Given the description of an element on the screen output the (x, y) to click on. 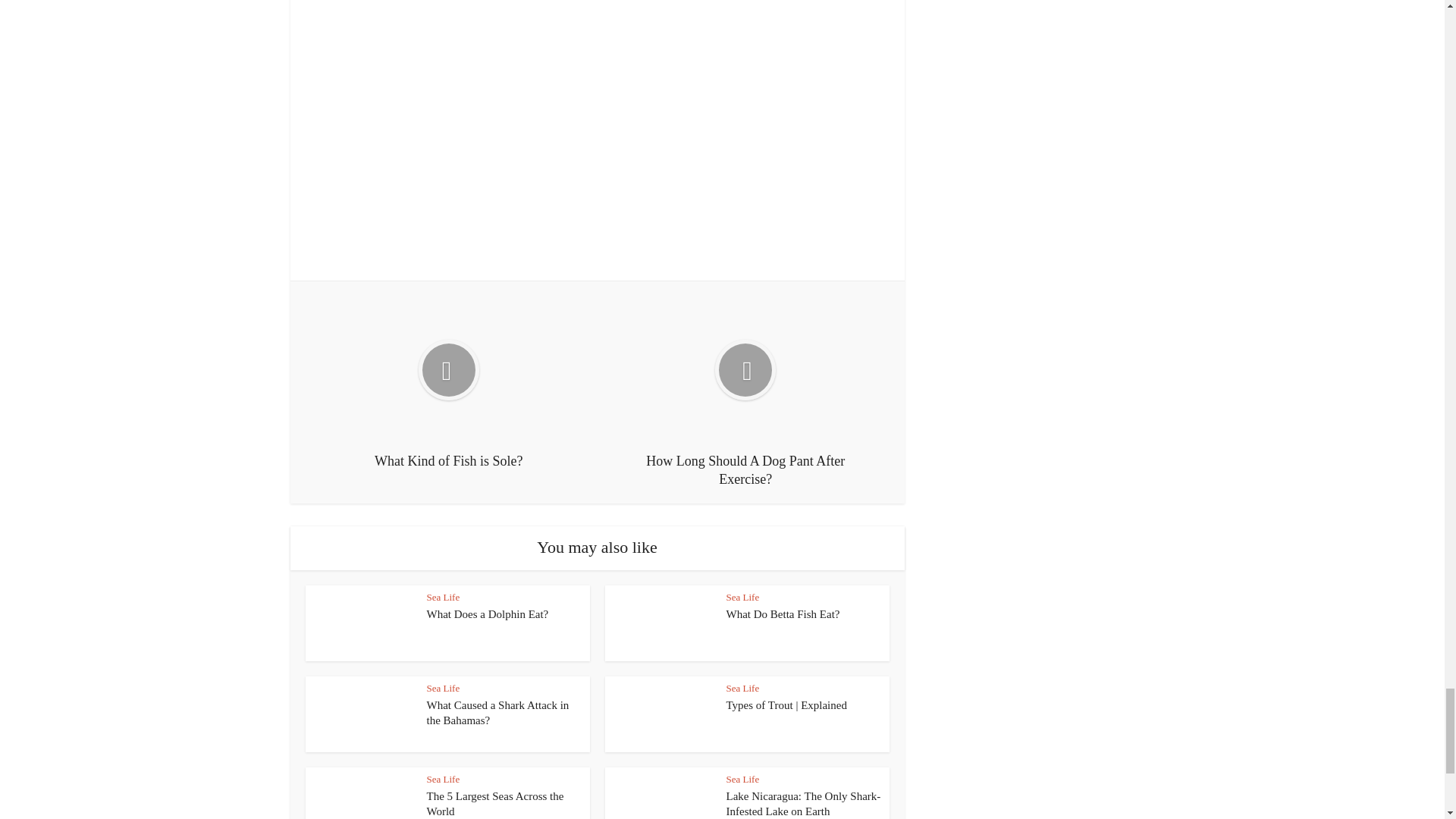
What Do Betta Fish Eat? (783, 613)
Sea Life (743, 596)
Sea Life (443, 687)
Sea Life (743, 778)
How Long Should A Dog Pant After Exercise? (745, 391)
Sea Life (443, 596)
What Do Betta Fish Eat? (783, 613)
Sea Life (443, 778)
What Caused a Shark Attack in the Bahamas? (497, 712)
What Does a Dolphin Eat? (487, 613)
